Given the description of an element on the screen output the (x, y) to click on. 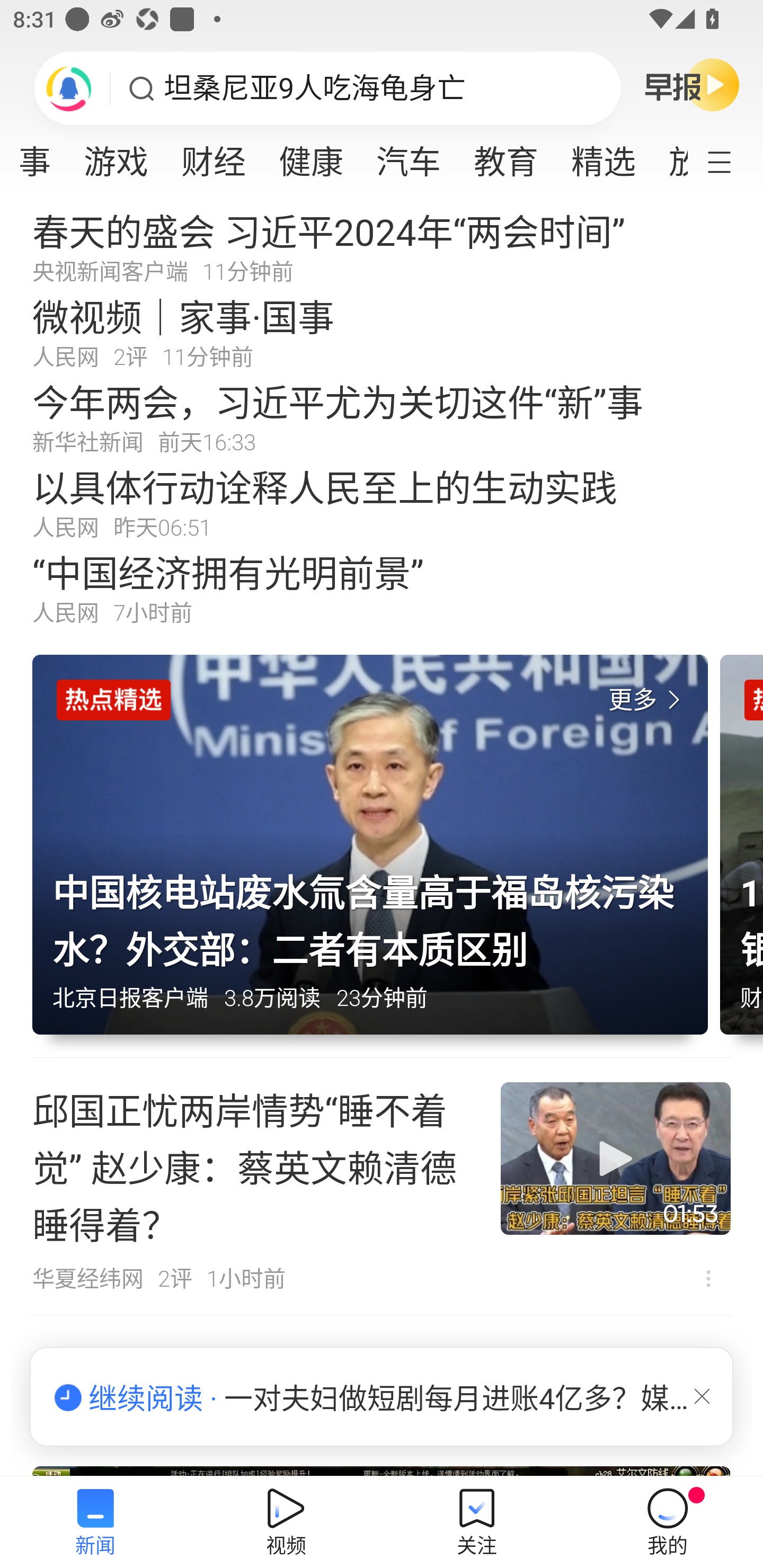
早晚报 (691, 84)
刷新 (68, 88)
坦桑尼亚9人吃海龟身亡 (314, 88)
游戏 (115, 155)
财经 (213, 155)
健康 (311, 155)
汽车 (408, 155)
教育 (505, 155)
精选 (603, 155)
 定制频道 (731, 160)
春天的盛会 习近平2024年“两会时间” 央视新闻客户端 11分钟前 (381, 245)
微视频｜家事·国事 人民网 2评 11分钟前 (381, 331)
今年两会，习近平尤为关切这件“新”事 新华社新闻 前天16:33 (381, 416)
以具体行动诠释人民至上的生动实践 人民网 昨天06:51 (381, 502)
“中国经济拥有光明前景” 人民网 7小时前 (381, 587)
更多  (648, 699)
 不感兴趣 (707, 1278)
继续阅读 ·  一对夫妇做短剧每月进账4亿多？媒体：还是少讲一些“暴富神话”吧  (381, 1397)
 (702, 1396)
